Given the description of an element on the screen output the (x, y) to click on. 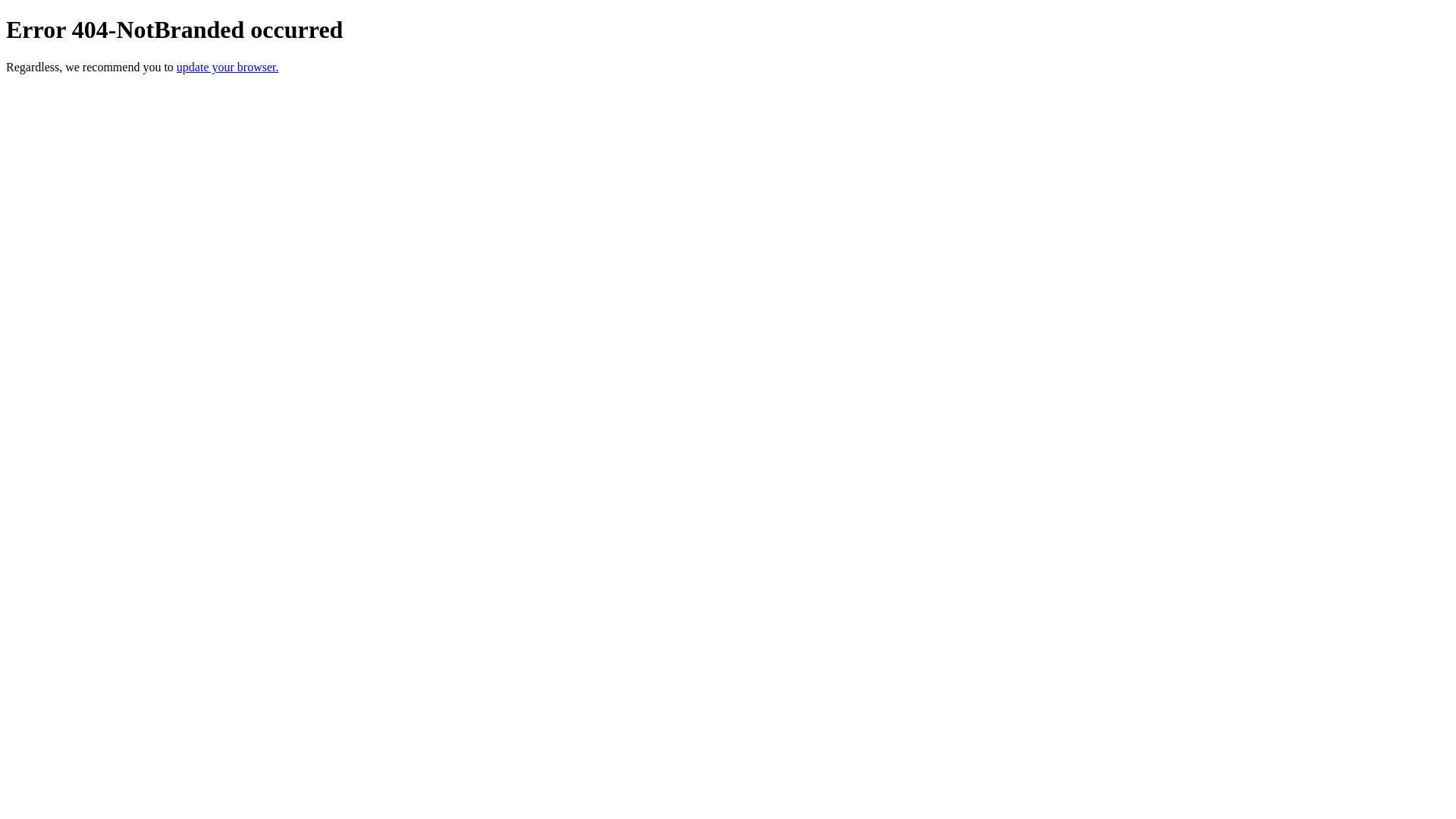
update your browser. Element type: text (227, 66)
